Given the description of an element on the screen output the (x, y) to click on. 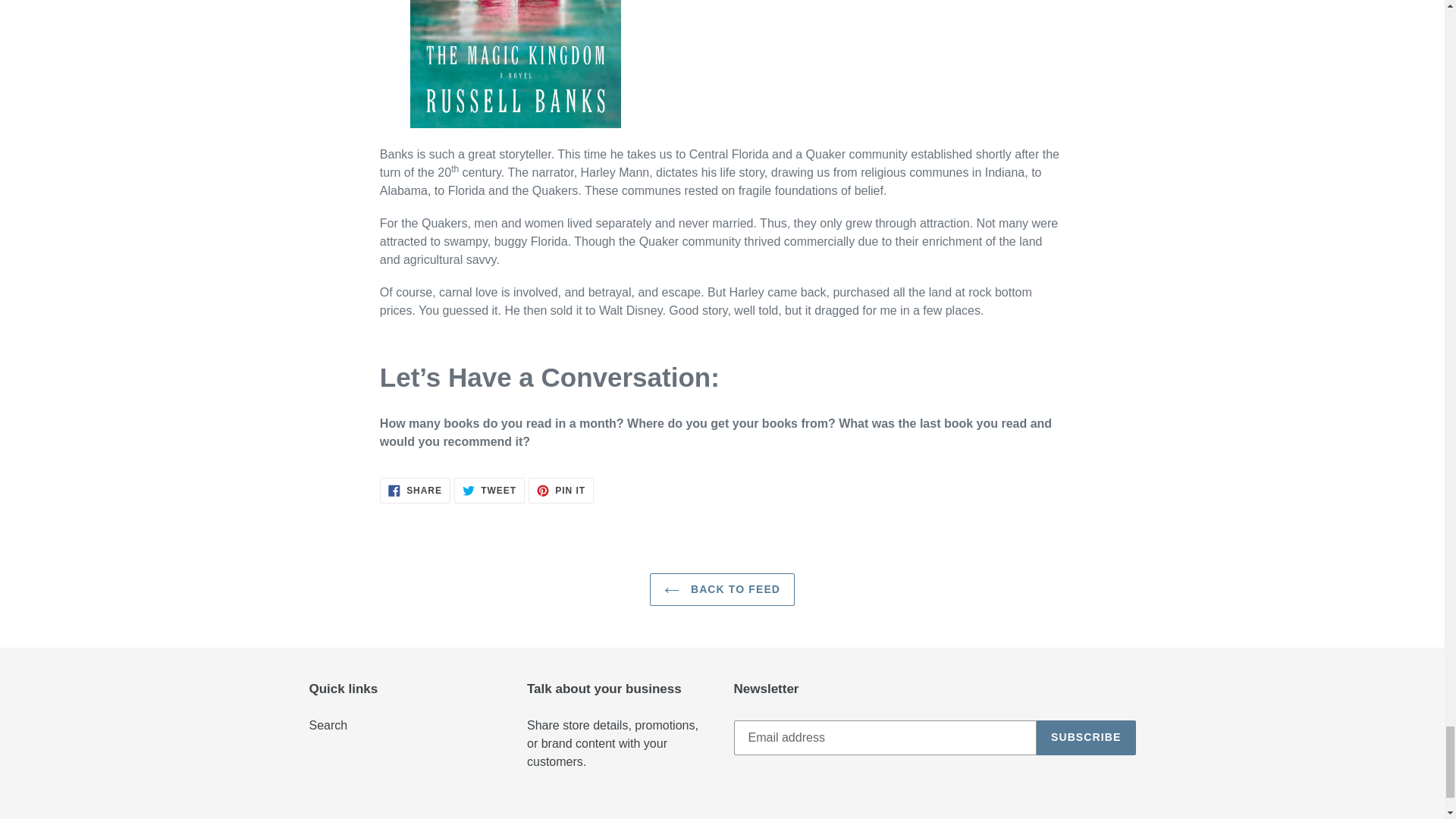
BACK TO FEED (561, 490)
Search (721, 589)
SUBSCRIBE (327, 725)
